Given the description of an element on the screen output the (x, y) to click on. 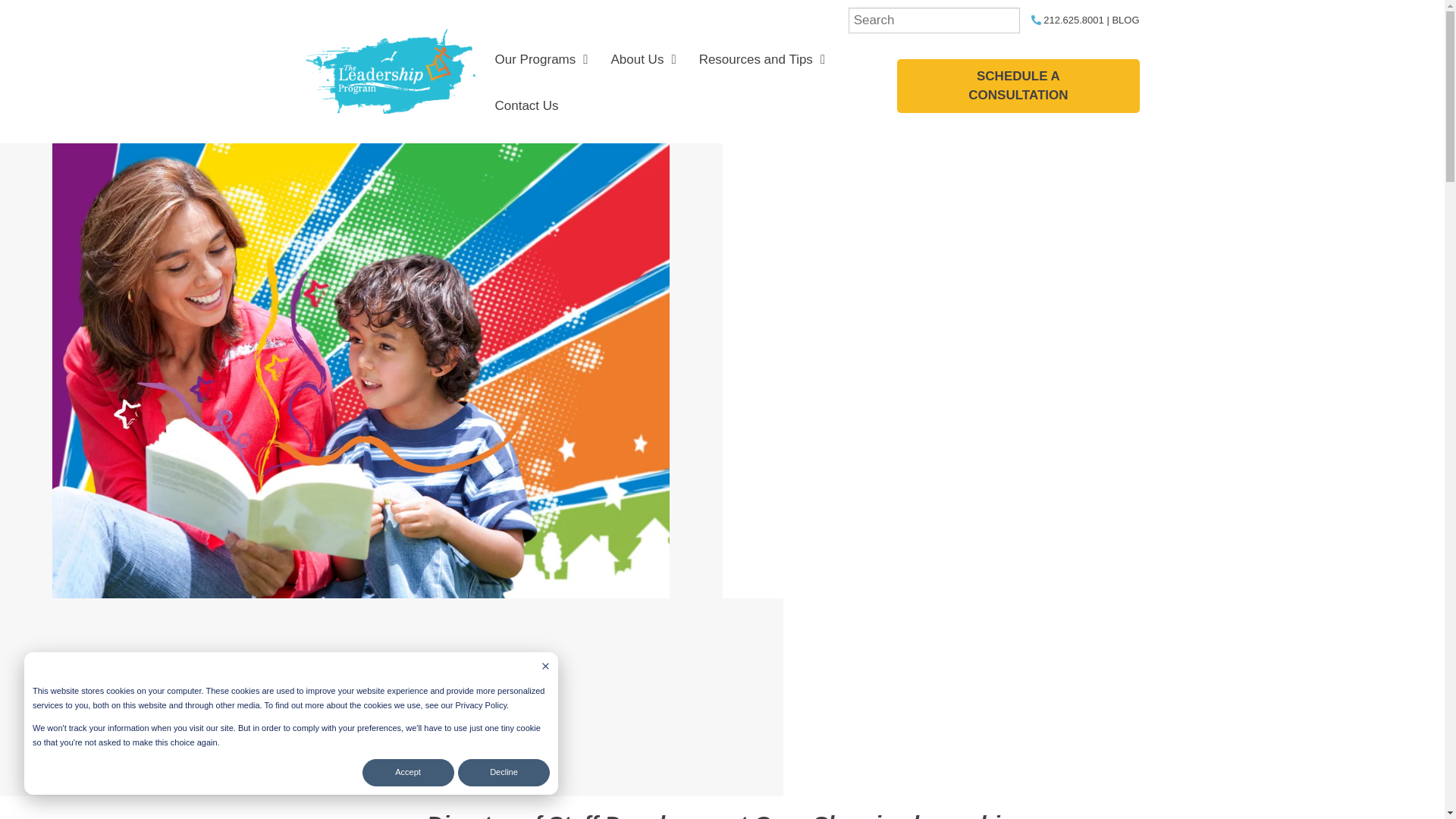
Our Programs (541, 59)
About Us (642, 59)
Resources and Tips (761, 59)
212.625.8001 (1066, 19)
Contact Us (526, 106)
Schedule a Consultation (1017, 85)
tlp-png-logo-blue (390, 70)
SCHEDULE A CONSULTATION (1017, 85)
BLOG (1125, 19)
